Given the description of an element on the screen output the (x, y) to click on. 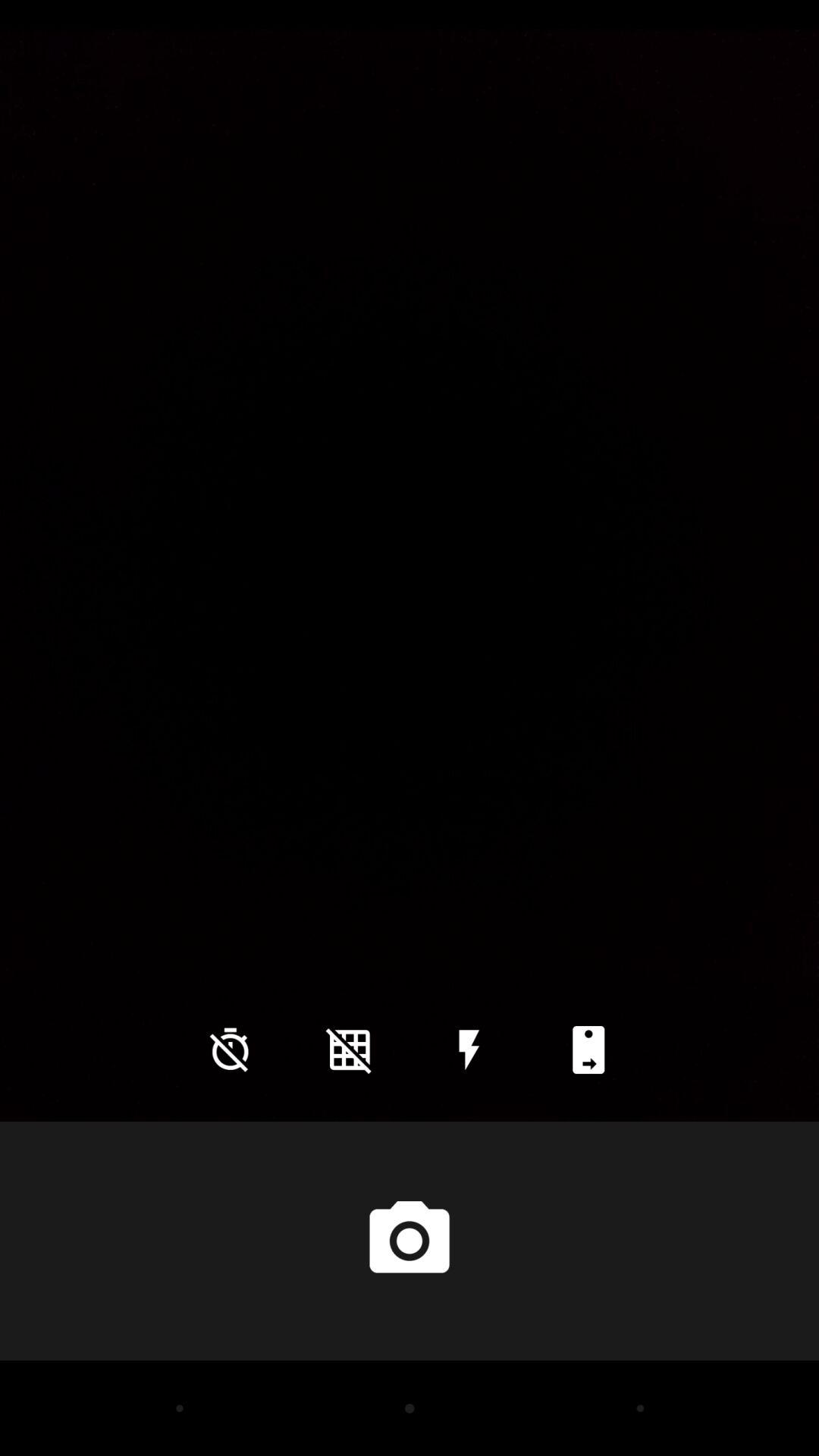
turn on the item at the bottom right corner (588, 1049)
